Given the description of an element on the screen output the (x, y) to click on. 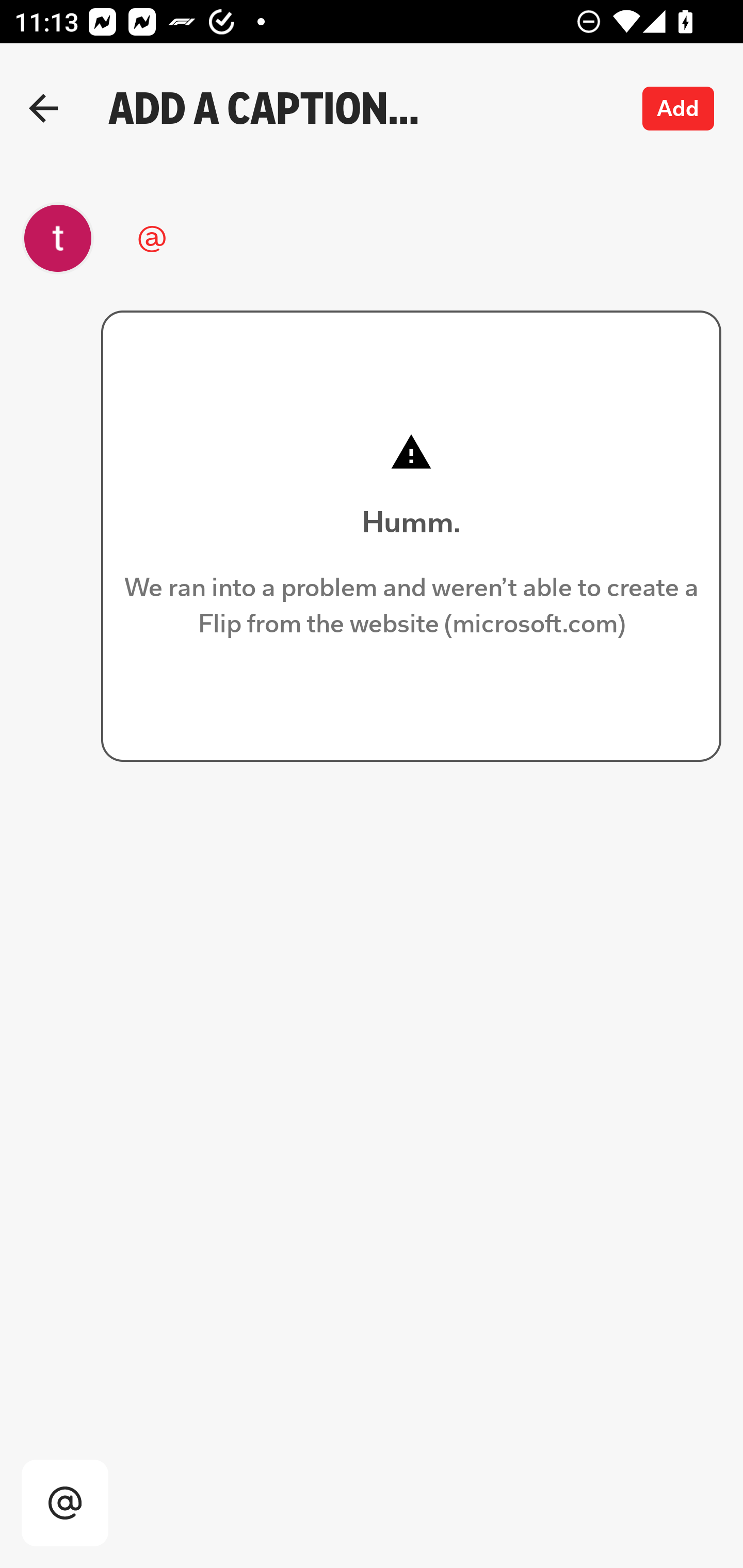
Add (678, 108)
@ (360, 238)
